Given the description of an element on the screen output the (x, y) to click on. 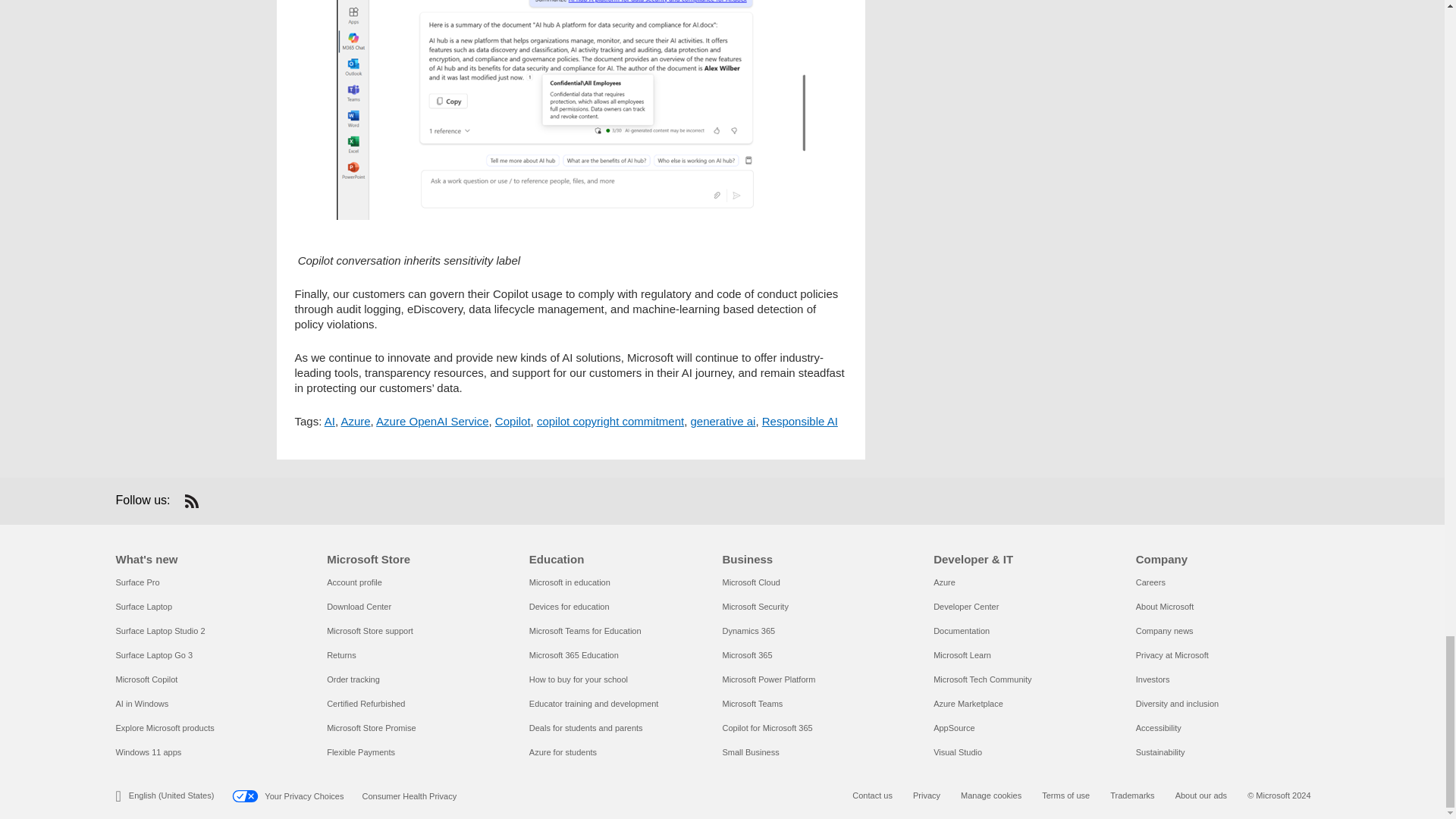
RSS Subscription (191, 500)
